Given the description of an element on the screen output the (x, y) to click on. 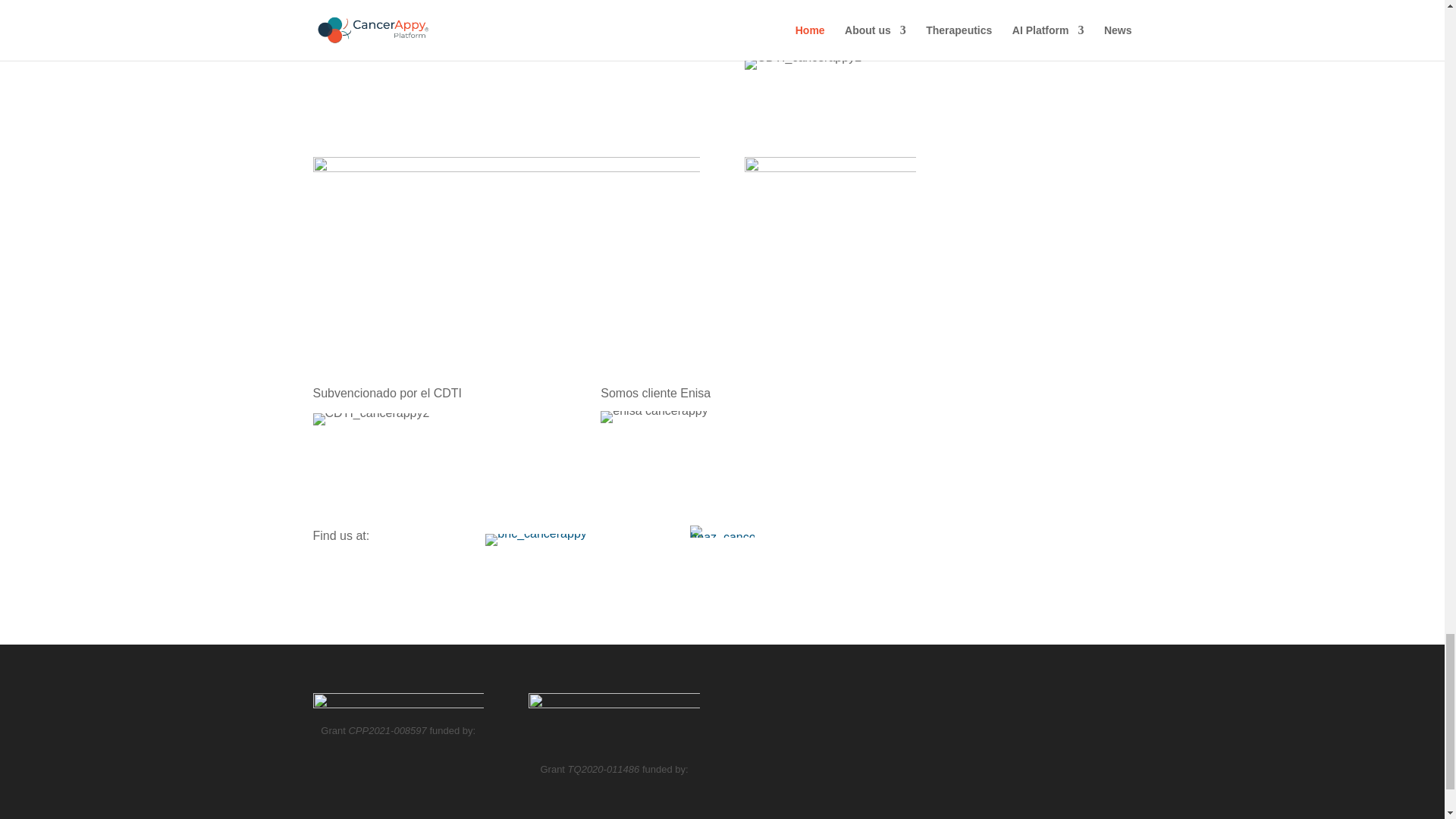
basque-health-cluster-logo (535, 539)
micin-aei (802, 63)
beaz (722, 531)
xicex-next-internacionalizacion-2021 (829, 202)
